Given the description of an element on the screen output the (x, y) to click on. 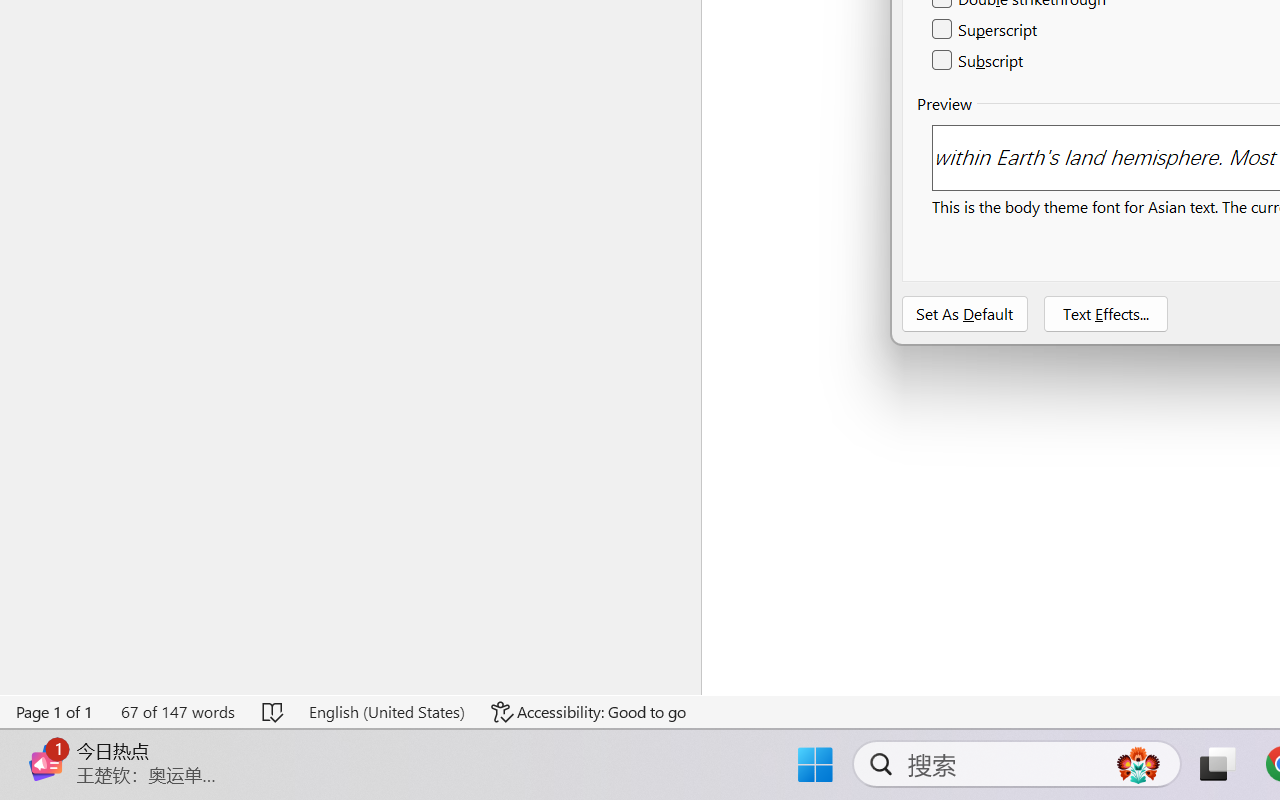
Set As Default (965, 313)
Page Number Page 1 of 1 (55, 712)
Text Effects... (1105, 313)
Subscript (978, 60)
Superscript (985, 29)
